Given the description of an element on the screen output the (x, y) to click on. 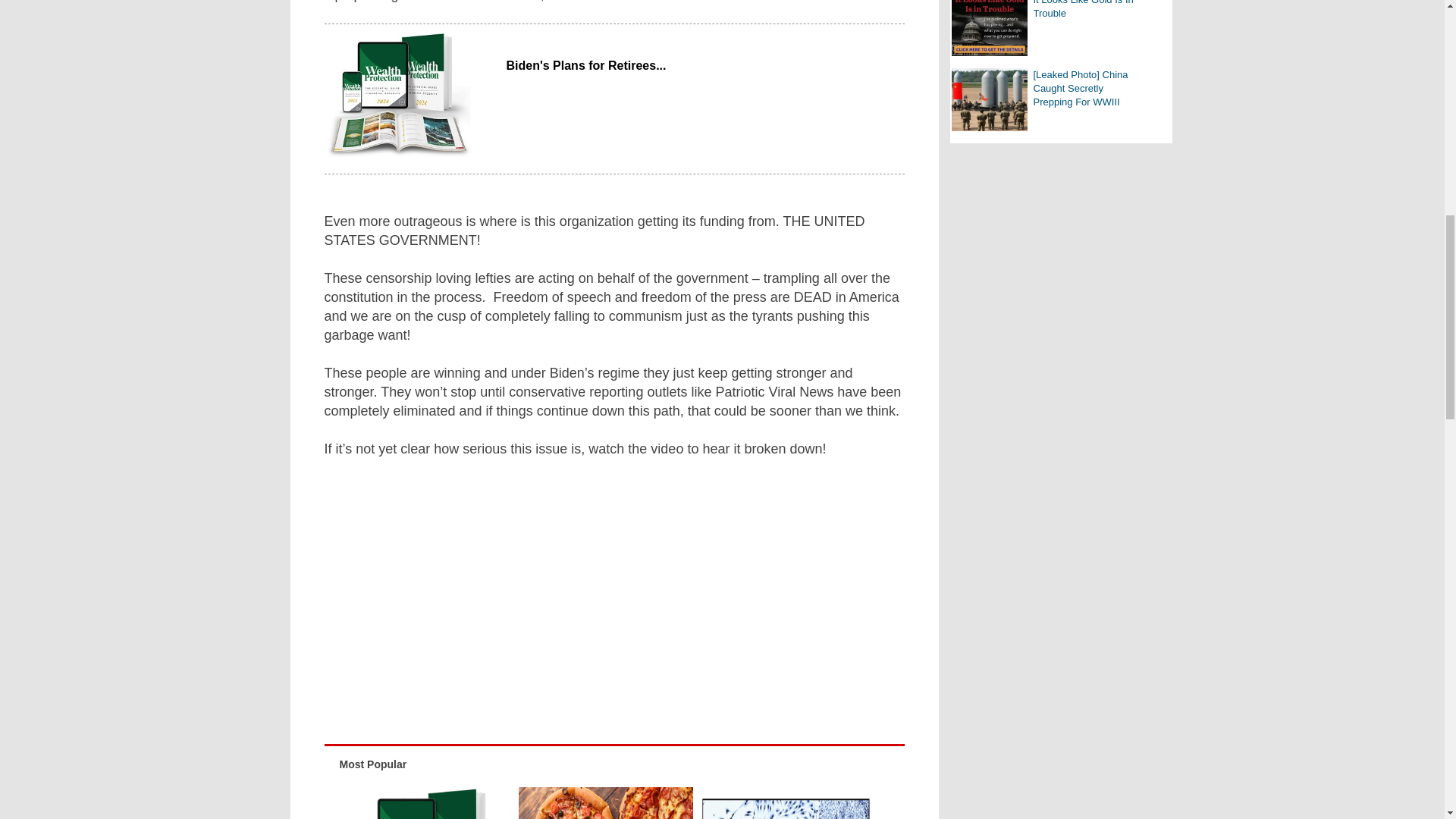
Biden's Plans for Retirees... (705, 65)
It Looks Like Gold Is In Trouble (988, 28)
Biden's Plans for Retirees... (426, 803)
YouTube video player (536, 596)
